Given the description of an element on the screen output the (x, y) to click on. 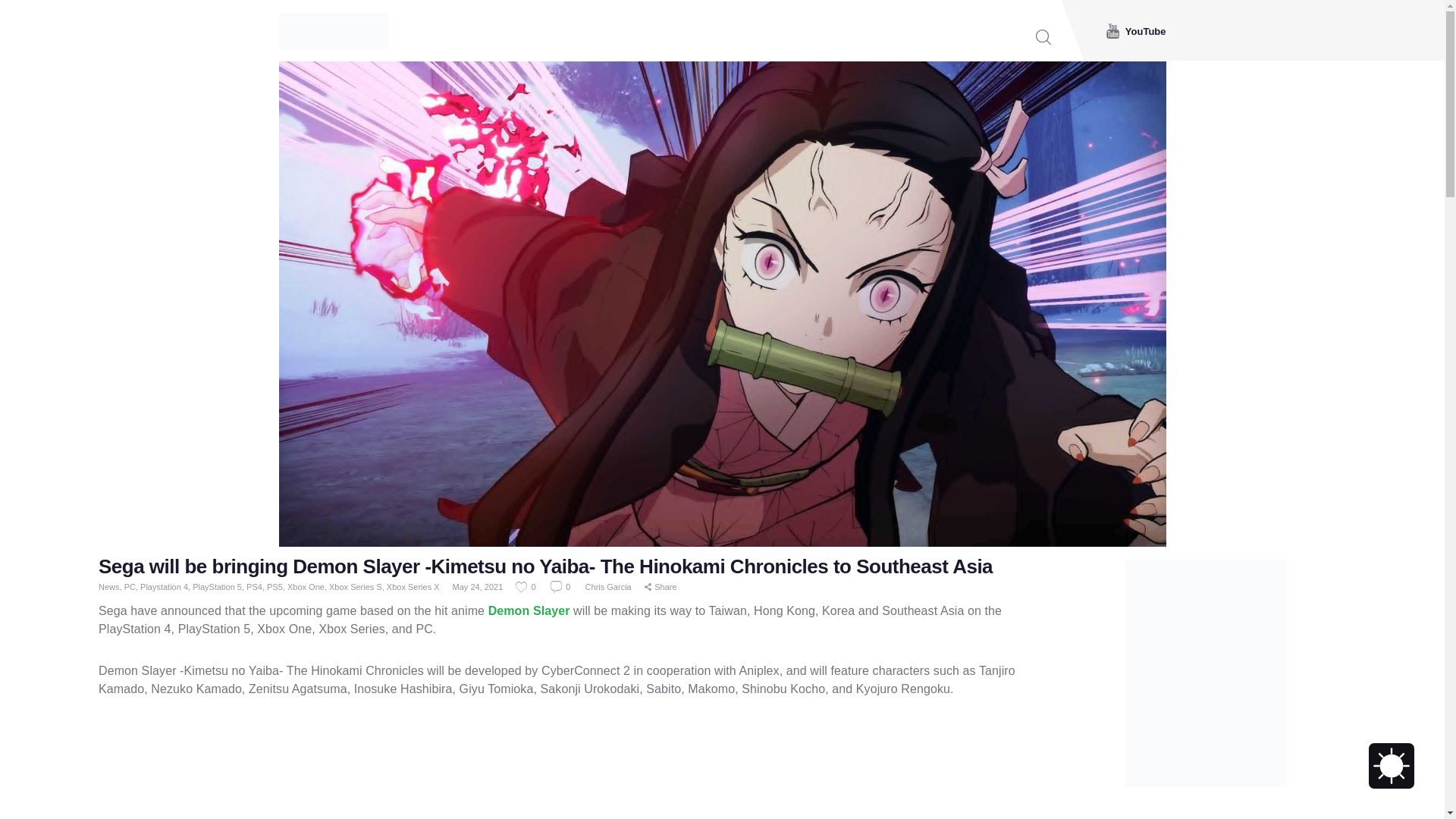
Xbox Series S (355, 586)
Xbox One (305, 586)
PC (129, 586)
May 24, 2021 (477, 586)
0 (526, 586)
Demon Slayer (528, 610)
Chris Garcia (609, 586)
Playstation 4 (163, 586)
News (109, 586)
PlayStation 5 (216, 586)
